Given the description of an element on the screen output the (x, y) to click on. 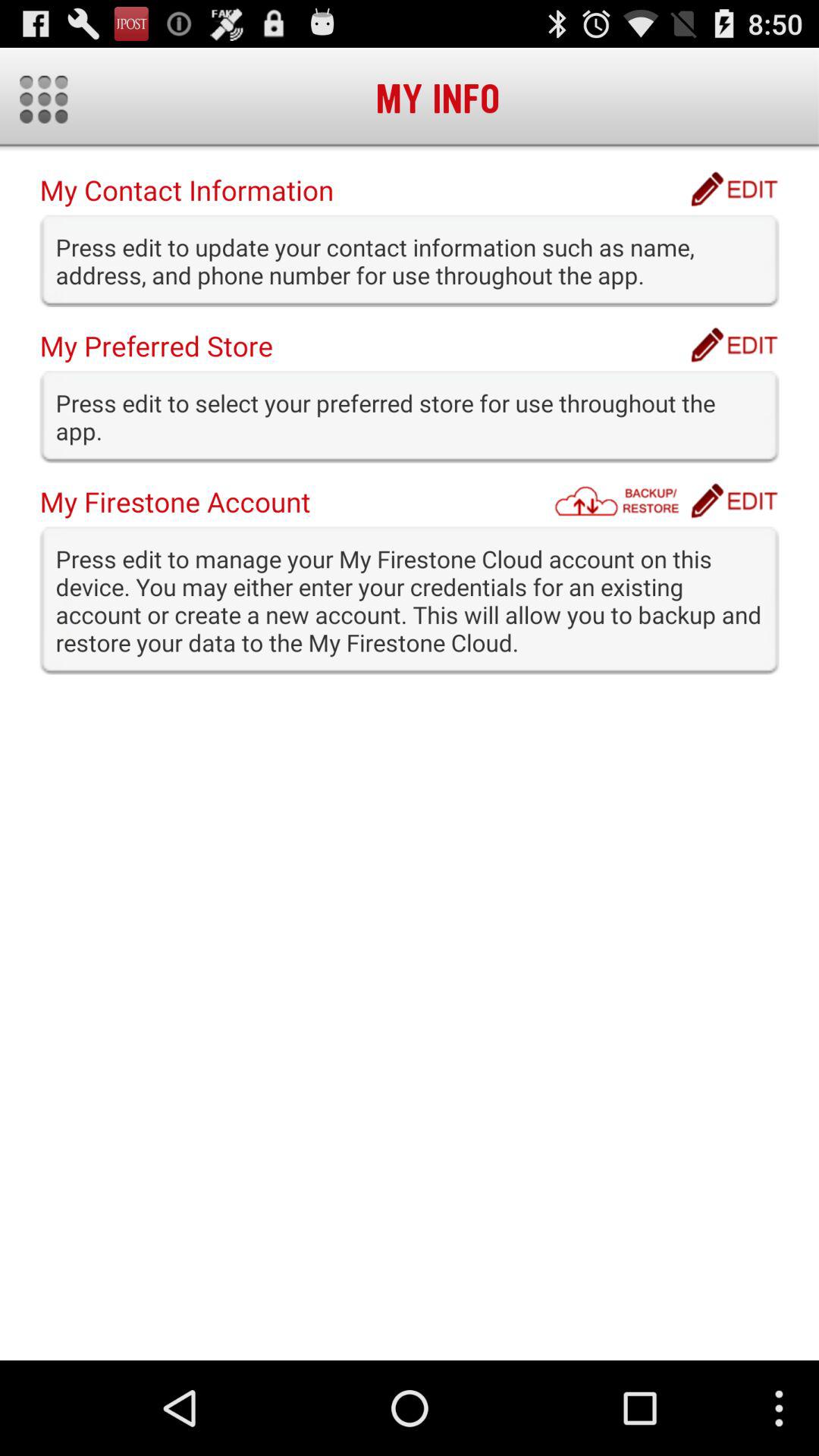
toggles options (43, 99)
